Given the description of an element on the screen output the (x, y) to click on. 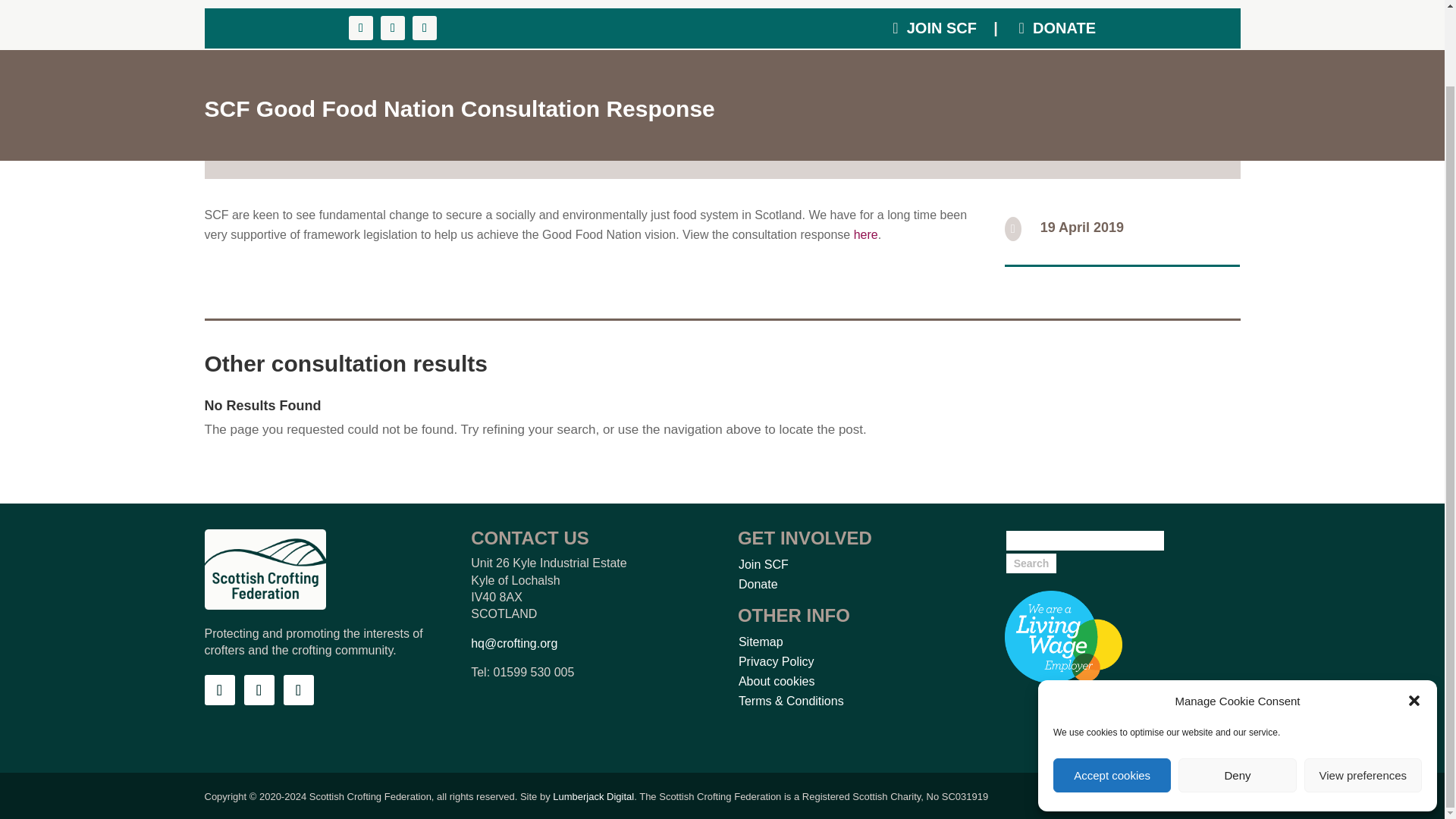
Follow on Instagram (424, 27)
Follow on Facebook (219, 689)
Follow on Instagram (298, 689)
Follow on Twitter (259, 689)
Follow on Facebook (360, 27)
Lumberjack Digital (593, 796)
Follow on Twitter (392, 27)
Accept cookies (1111, 690)
View preferences (1363, 690)
SCF logo 150h white (265, 569)
Deny (1236, 690)
Search (1031, 563)
